Given the description of an element on the screen output the (x, y) to click on. 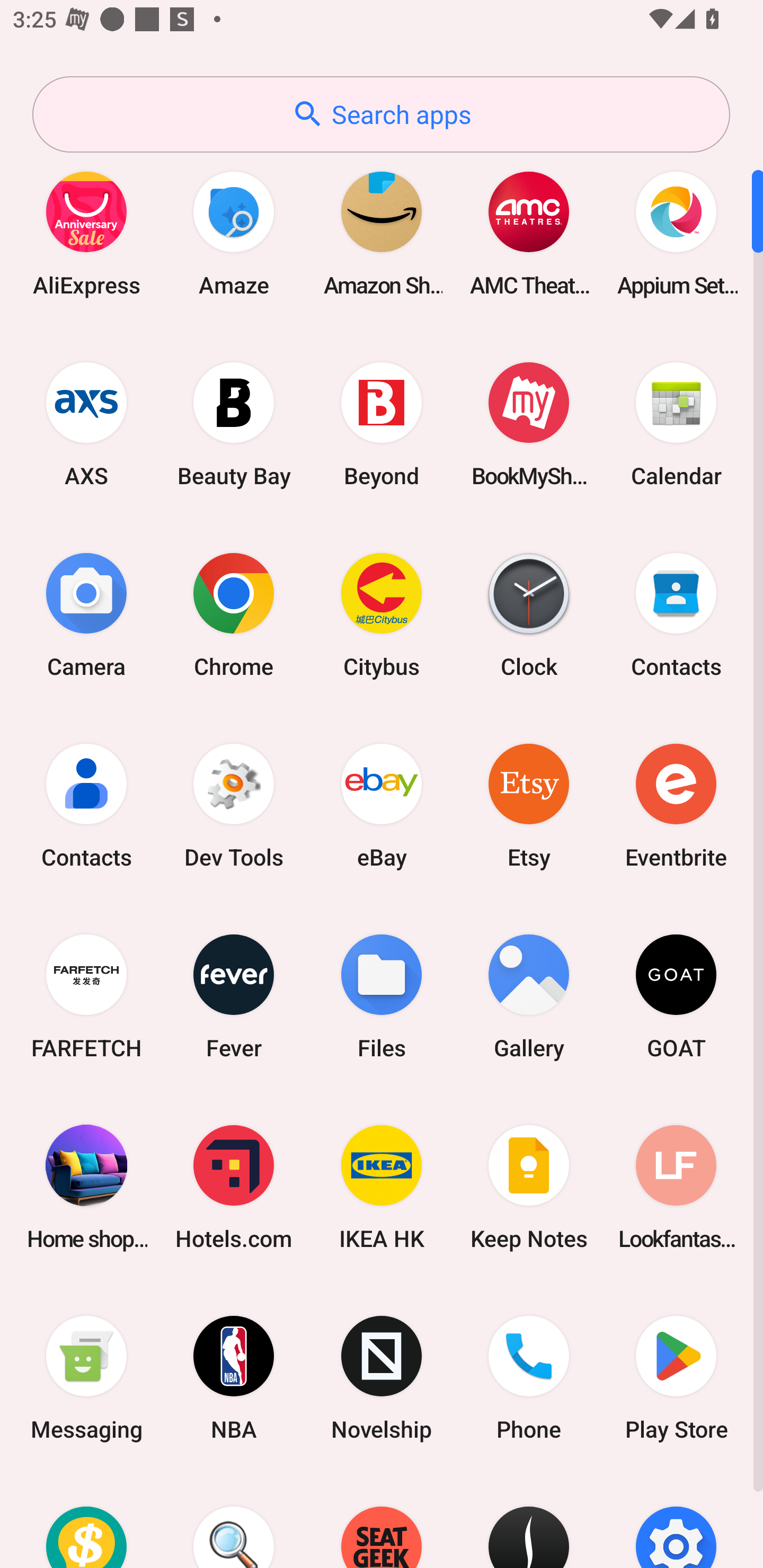
  Search apps (381, 114)
AliExpress (86, 233)
Amaze (233, 233)
Amazon Shopping (381, 233)
AMC Theatres (528, 233)
Appium Settings (676, 233)
AXS (86, 424)
Beauty Bay (233, 424)
Beyond (381, 424)
BookMyShow (528, 424)
Calendar (676, 424)
Camera (86, 614)
Chrome (233, 614)
Citybus (381, 614)
Clock (528, 614)
Contacts (676, 614)
Contacts (86, 805)
Dev Tools (233, 805)
eBay (381, 805)
Etsy (528, 805)
Eventbrite (676, 805)
FARFETCH (86, 996)
Fever (233, 996)
Files (381, 996)
Gallery (528, 996)
GOAT (676, 996)
Home shopping (86, 1186)
Hotels.com (233, 1186)
IKEA HK (381, 1186)
Keep Notes (528, 1186)
Lookfantastic (676, 1186)
Messaging (86, 1377)
NBA (233, 1377)
Novelship (381, 1377)
Phone (528, 1377)
Play Store (676, 1377)
Price (86, 1520)
Search (233, 1520)
SeatGeek (381, 1520)
Sephora (528, 1520)
Settings (676, 1520)
